Given the description of an element on the screen output the (x, y) to click on. 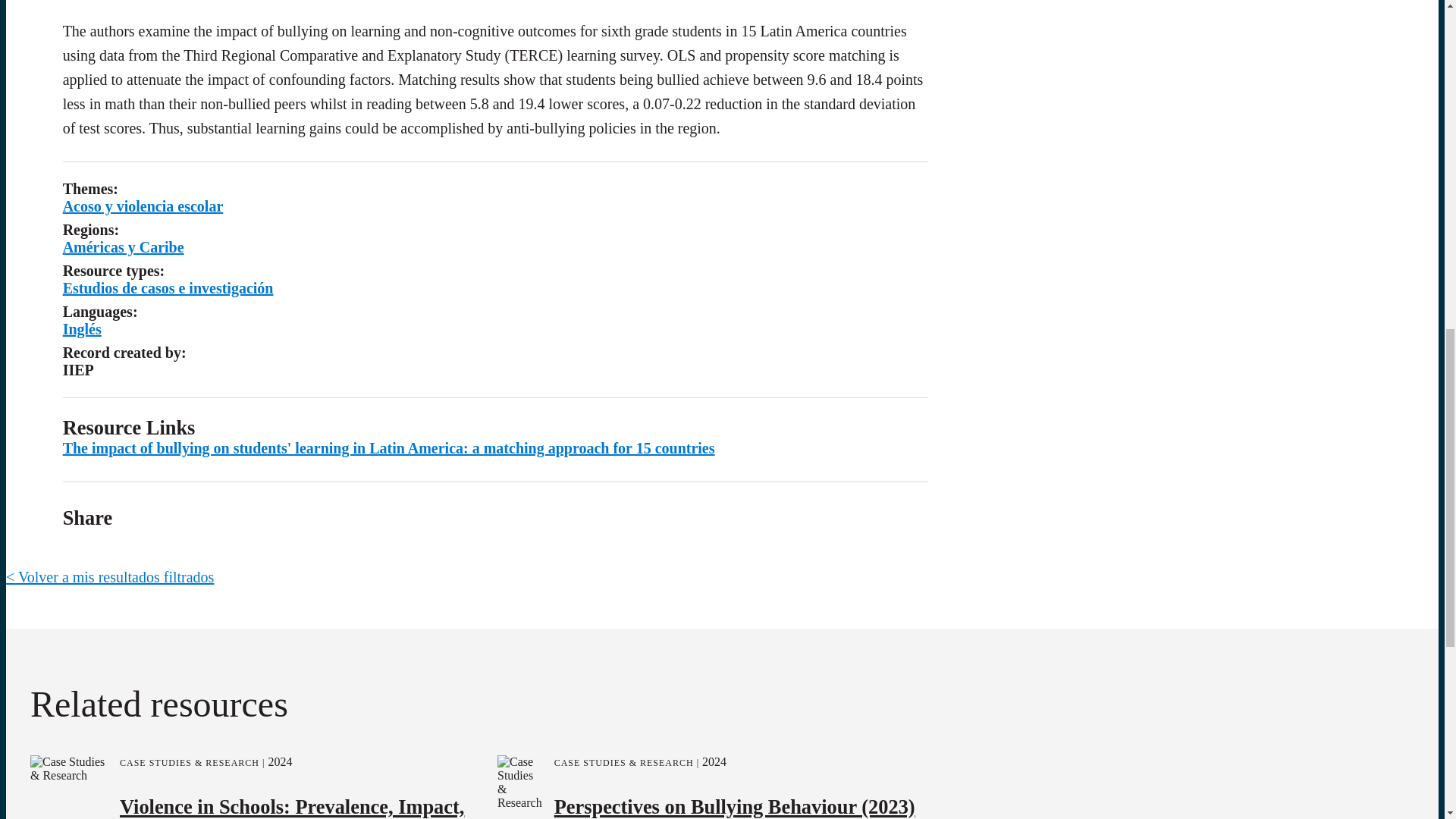
Acoso y violencia escolar (143, 206)
Violence in Schools: Prevalence, Impact, and Interventions (291, 805)
